Given the description of an element on the screen output the (x, y) to click on. 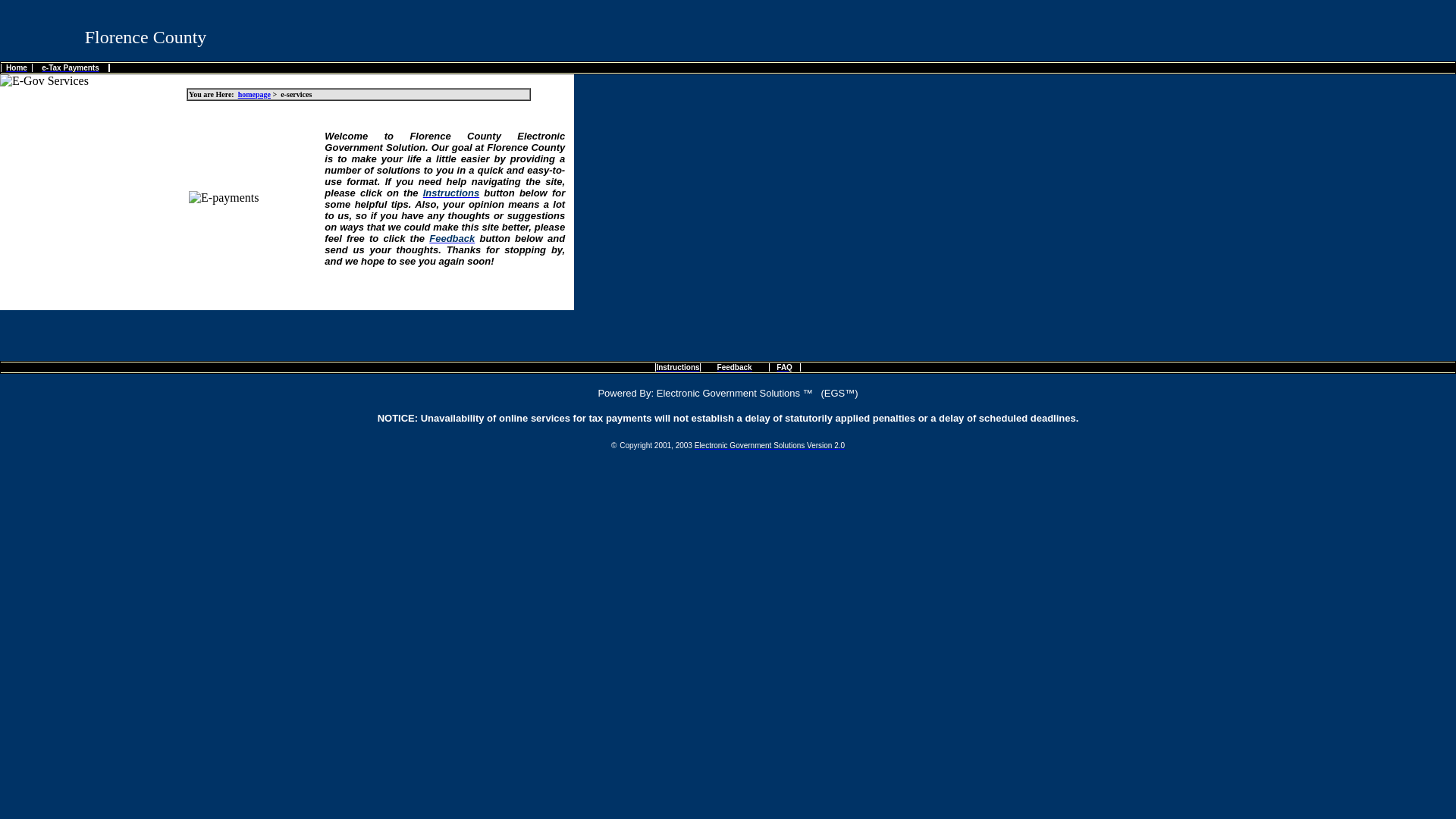
Electronic Government Solutions Version 2.0 (769, 445)
Feedback (734, 367)
Feedback (451, 238)
homepage (254, 94)
Home (16, 67)
Instructions (677, 367)
e-Tax Payments (69, 67)
FAQ (784, 367)
Instructions (451, 193)
